Given the description of an element on the screen output the (x, y) to click on. 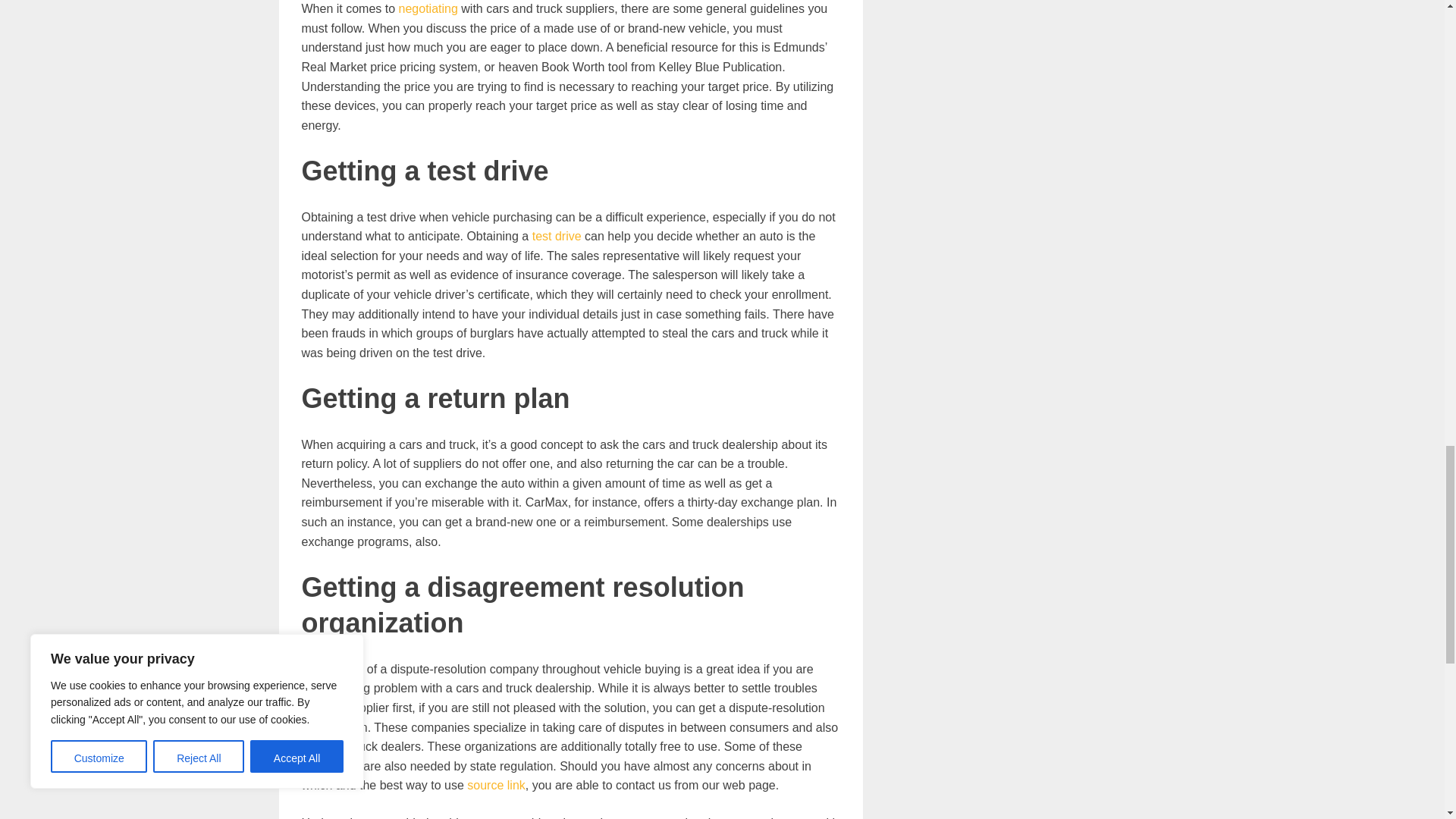
test drive (556, 236)
negotiating (428, 8)
source link (495, 784)
